Given the description of an element on the screen output the (x, y) to click on. 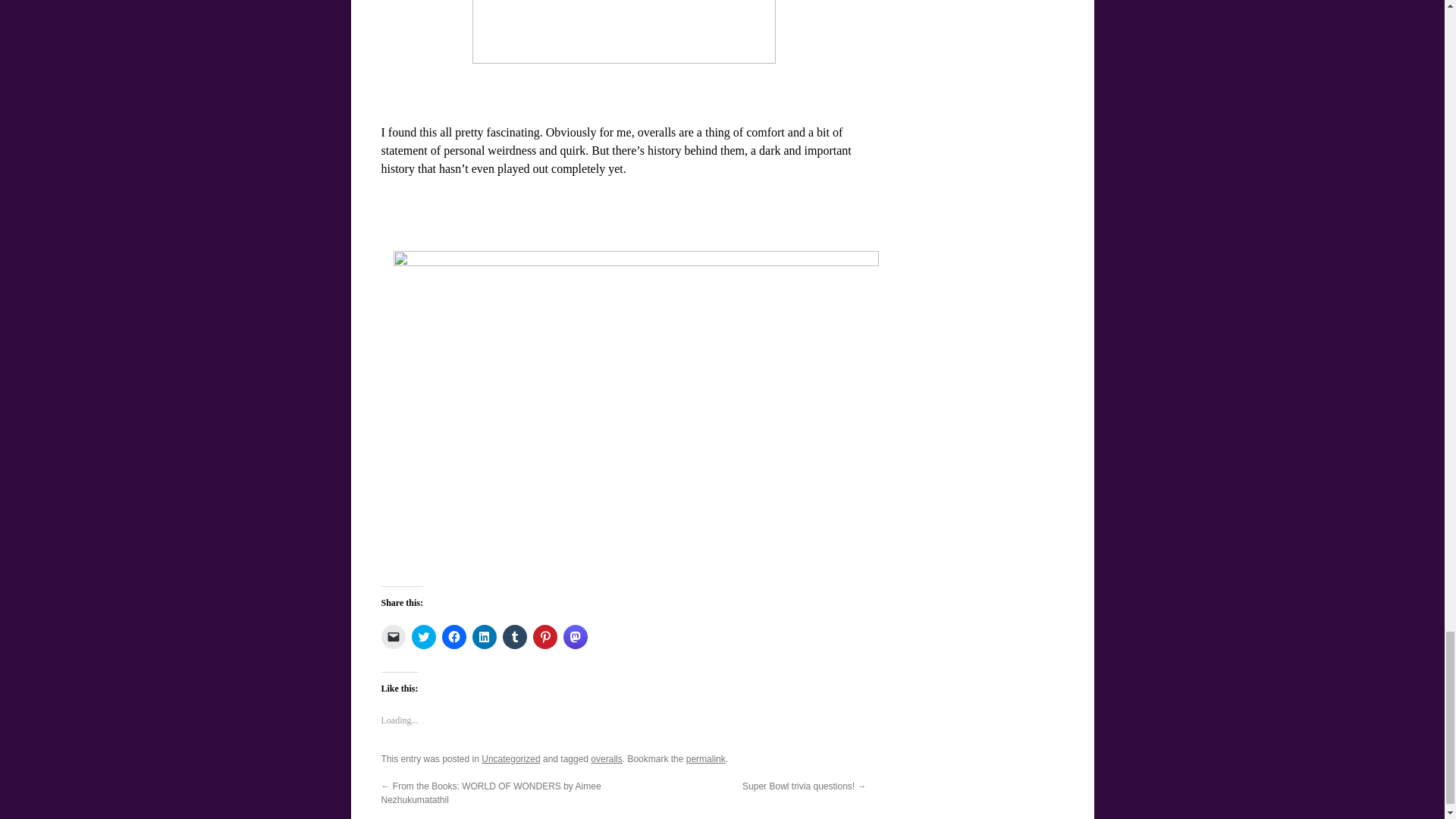
Click to share on Pinterest (544, 636)
Click to share on LinkedIn (483, 636)
Click to share on Twitter (422, 636)
Click to share on Facebook (453, 636)
overalls (606, 758)
Click to share on Tumblr (513, 636)
Click to email a link to a friend (392, 636)
Click to share on Mastodon (574, 636)
Uncategorized (510, 758)
permalink (705, 758)
